Given the description of an element on the screen output the (x, y) to click on. 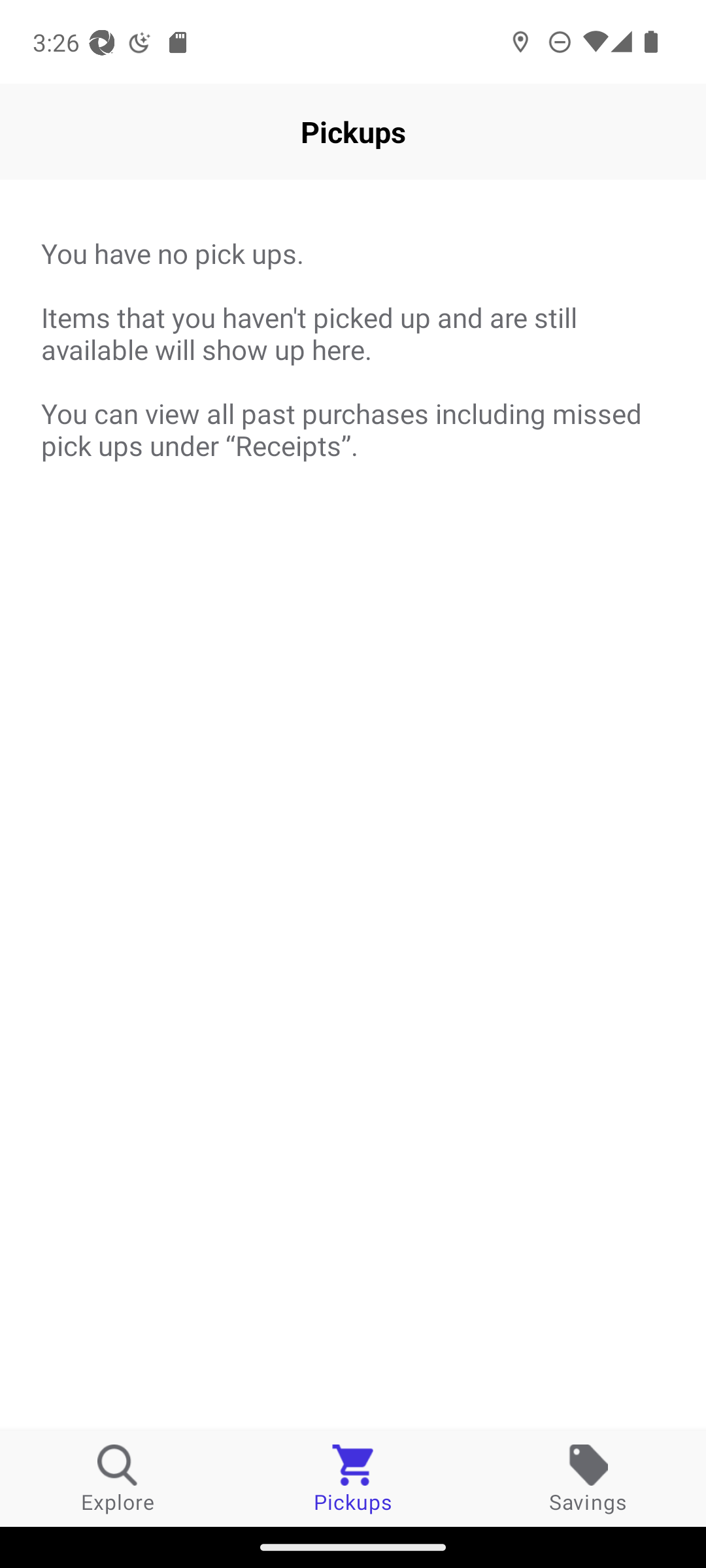
Explore (117, 1478)
Savings (588, 1478)
